Given the description of an element on the screen output the (x, y) to click on. 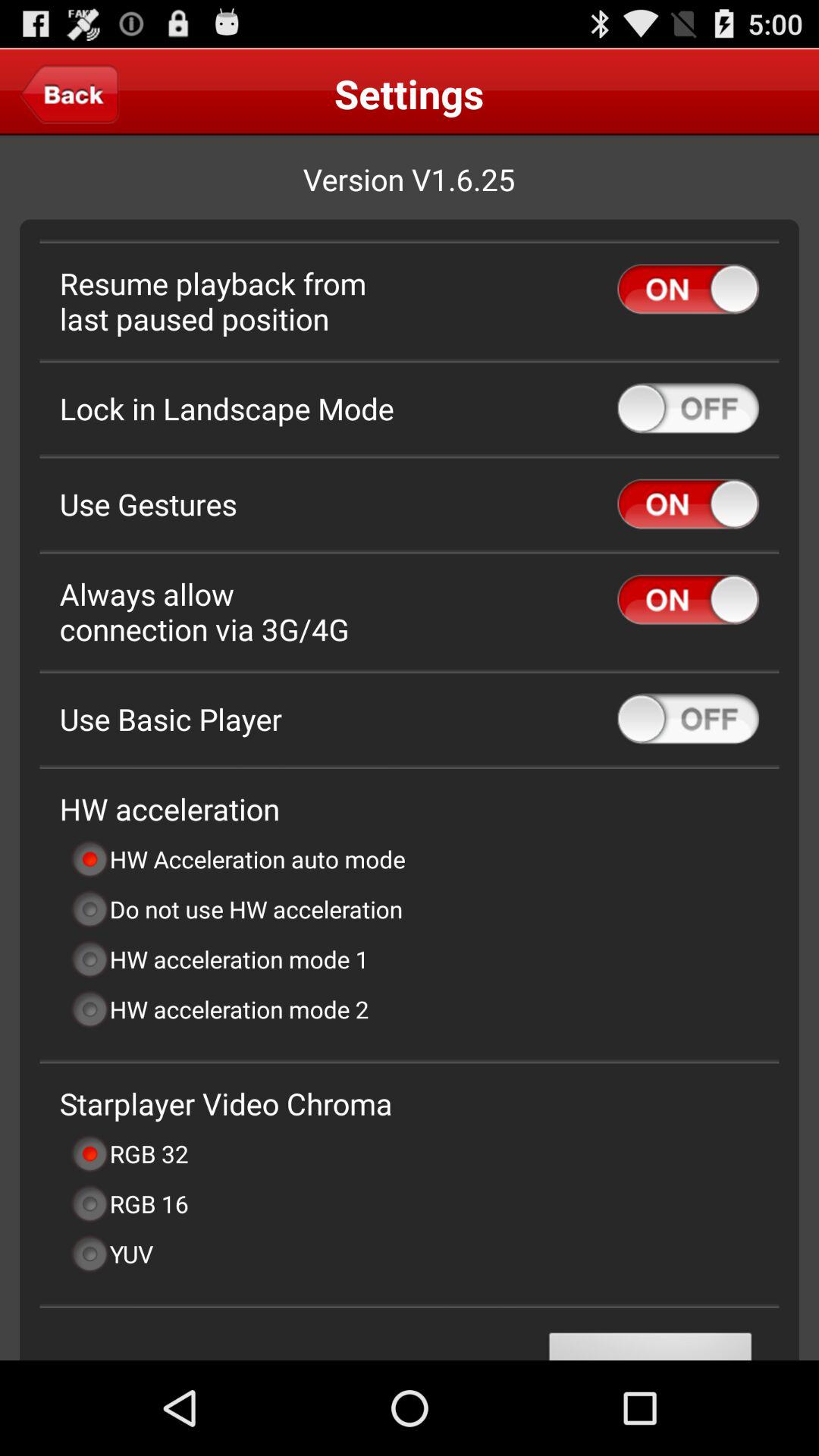
choose rgb 32 (128, 1153)
